Given the description of an element on the screen output the (x, y) to click on. 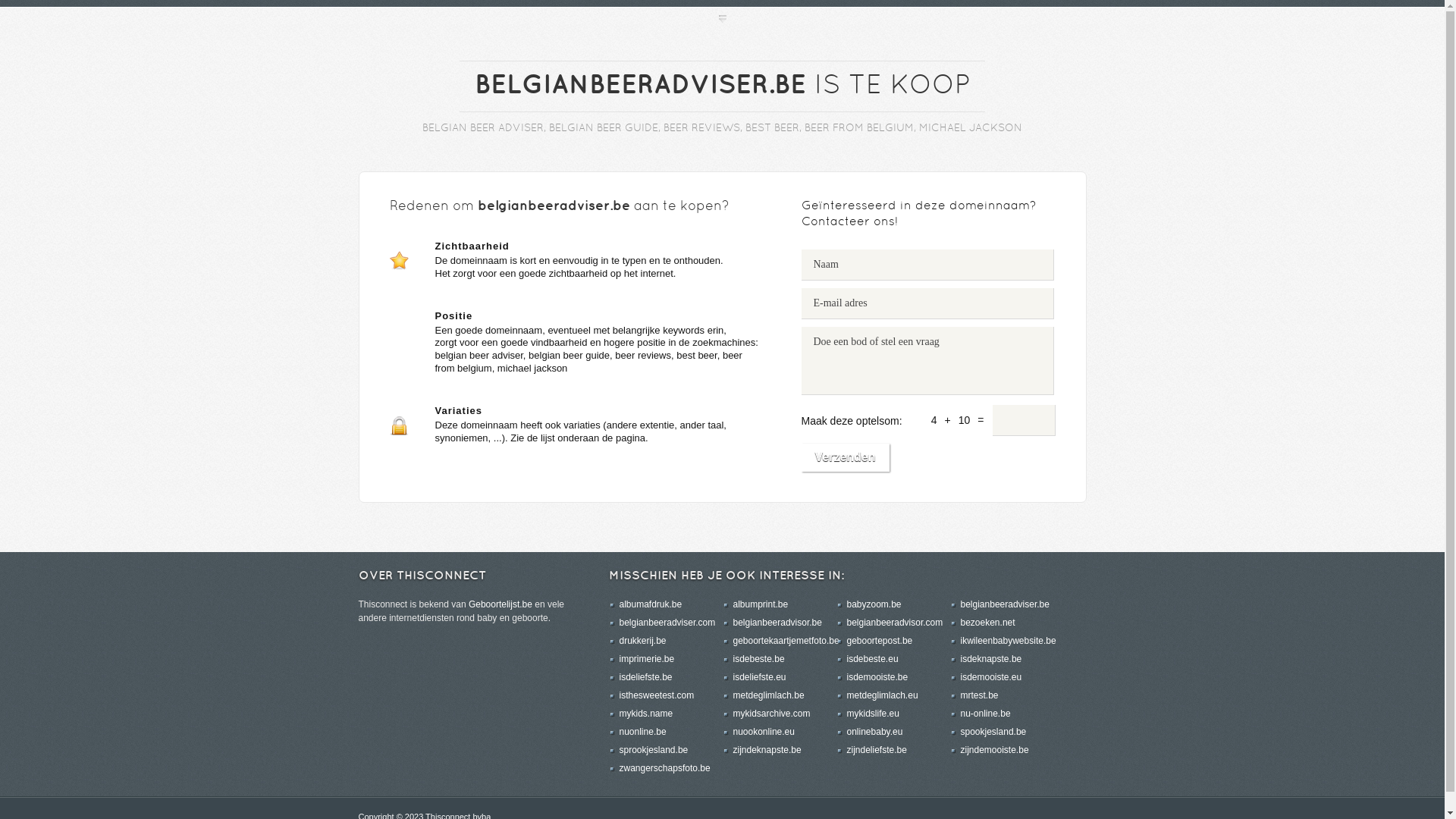
belgianbeeradvisor.com Element type: text (894, 622)
imprimerie.be Element type: text (646, 658)
mykidslife.eu Element type: text (872, 713)
zijndemooiste.be Element type: text (994, 749)
ikwileenbabywebsite.be Element type: text (1007, 640)
zwangerschapsfoto.be Element type: text (663, 767)
isdemooiste.be Element type: text (876, 676)
bezoeken.net Element type: text (987, 622)
mykids.name Element type: text (645, 713)
isdemooiste.eu Element type: text (990, 676)
metdeglimlach.be Element type: text (767, 695)
onlinebaby.eu Element type: text (874, 731)
geboortepost.be Element type: text (879, 640)
metdeglimlach.eu Element type: text (881, 695)
isdebeste.eu Element type: text (871, 658)
mrtest.be Element type: text (978, 695)
spookjesland.be Element type: text (993, 731)
isdeknapste.be Element type: text (990, 658)
nuookonline.eu Element type: text (762, 731)
isdeliefste.be Element type: text (644, 676)
isdebeste.be Element type: text (758, 658)
sprookjesland.be Element type: text (652, 749)
Geboortelijst.be Element type: text (500, 604)
isthesweetest.com Element type: text (655, 695)
nu-online.be Element type: text (985, 713)
zijndeliefste.be Element type: text (876, 749)
isdeliefste.eu Element type: text (758, 676)
albumprint.be Element type: text (759, 604)
nuonline.be Element type: text (641, 731)
belgianbeeradvisor.be Element type: text (776, 622)
albumafdruk.be Element type: text (649, 604)
babyzoom.be Element type: text (873, 604)
belgianbeeradviser.com Element type: text (666, 622)
Verzenden Element type: text (844, 457)
mykidsarchive.com Element type: text (770, 713)
geboortekaartjemetfoto.be Element type: text (785, 640)
zijndeknapste.be Element type: text (766, 749)
drukkerij.be Element type: text (641, 640)
belgianbeeradviser.be Element type: text (1004, 604)
